Given the description of an element on the screen output the (x, y) to click on. 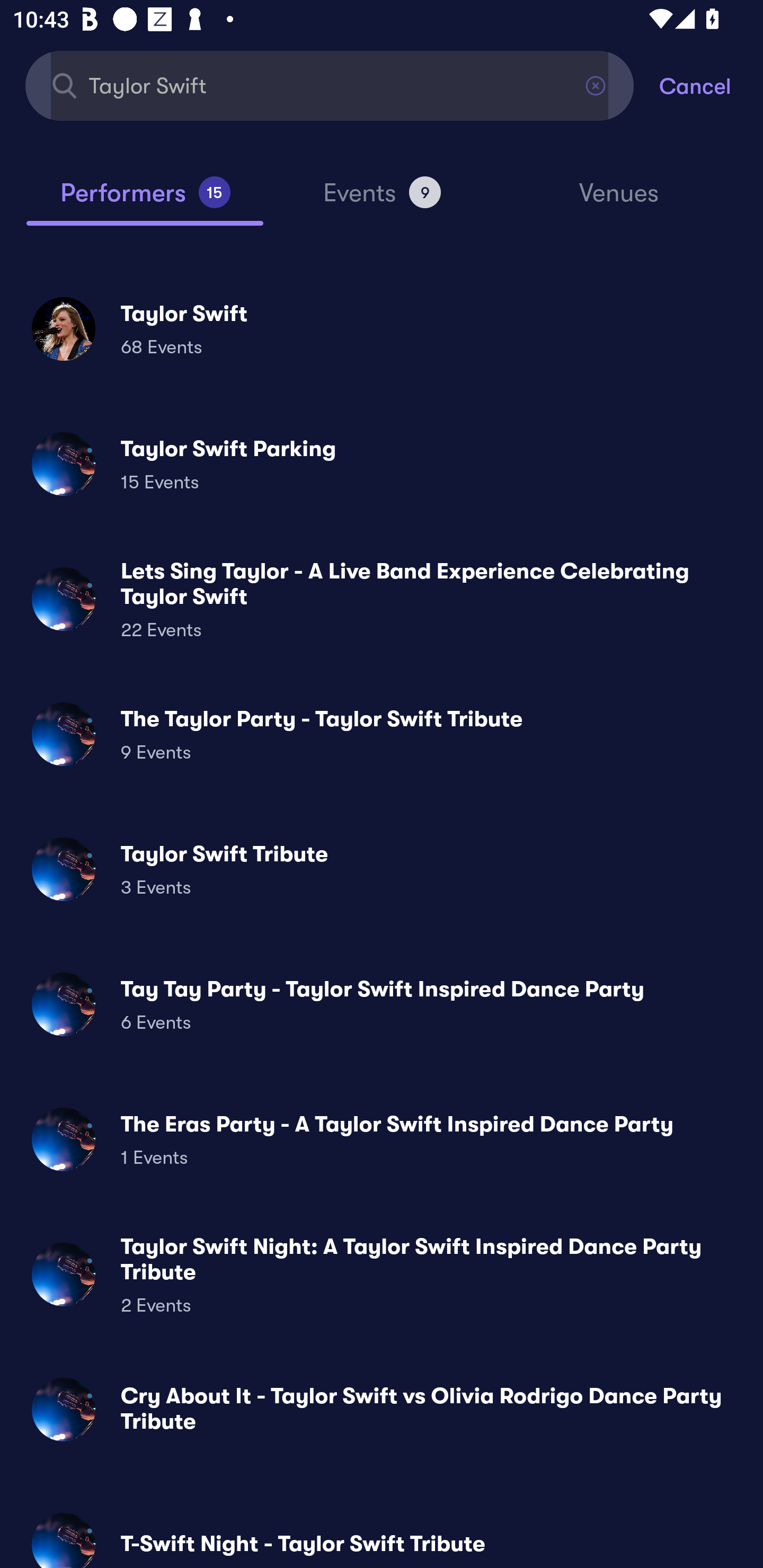
Taylor Swift Find (329, 85)
Taylor Swift Find (329, 85)
Cancel (711, 85)
Performers 15 (144, 200)
Events 9 (381, 200)
Venues (618, 201)
Taylor Swift 68 Events (381, 328)
Taylor Swift Parking 15 Events (381, 464)
The Taylor Party - Taylor Swift Tribute 9 Events (381, 734)
Taylor Swift Tribute 3 Events (381, 869)
T-Swift Night - Taylor Swift Tribute (381, 1532)
